Given the description of an element on the screen output the (x, y) to click on. 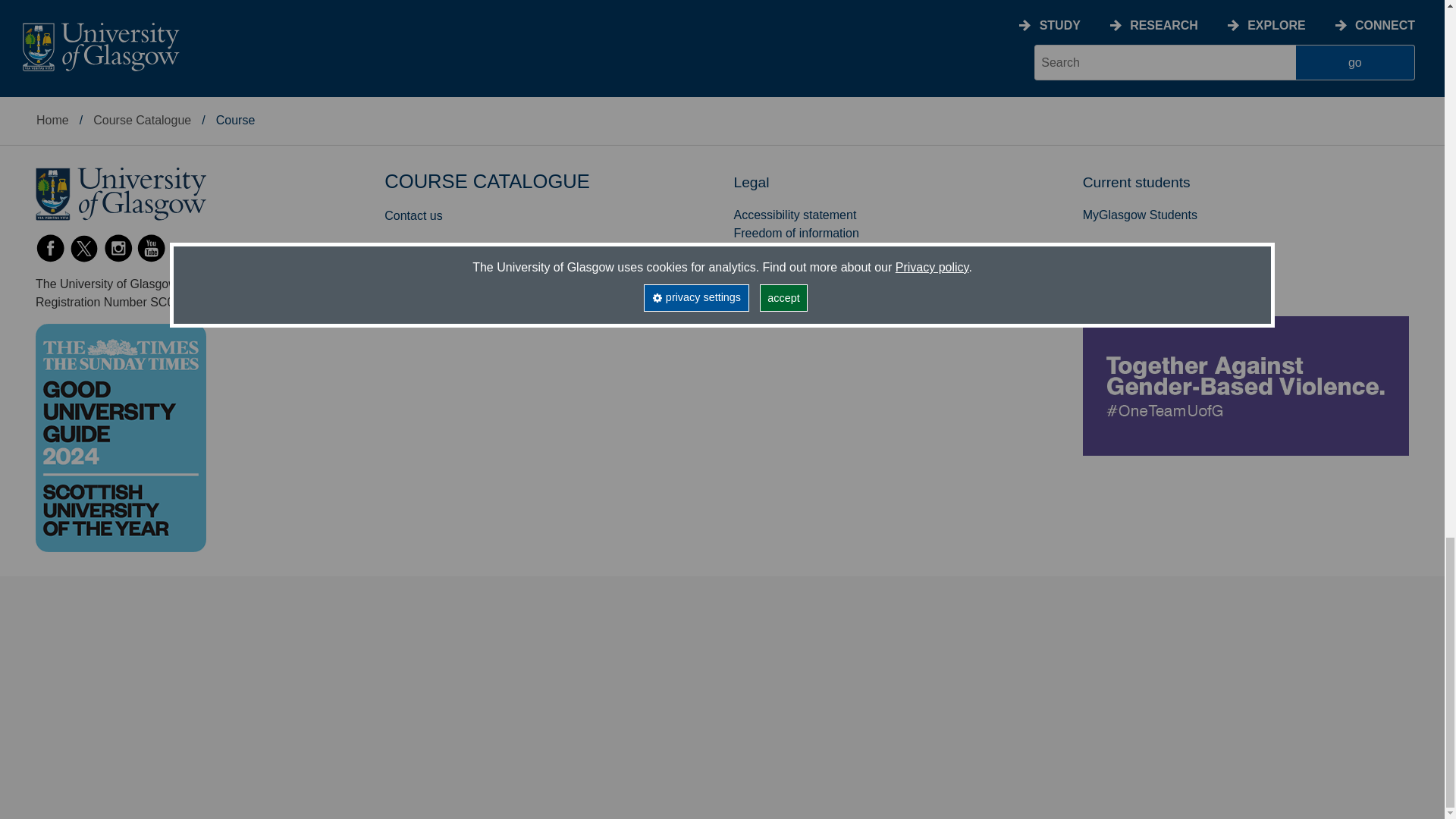
Student life (65, 6)
